Given the description of an element on the screen output the (x, y) to click on. 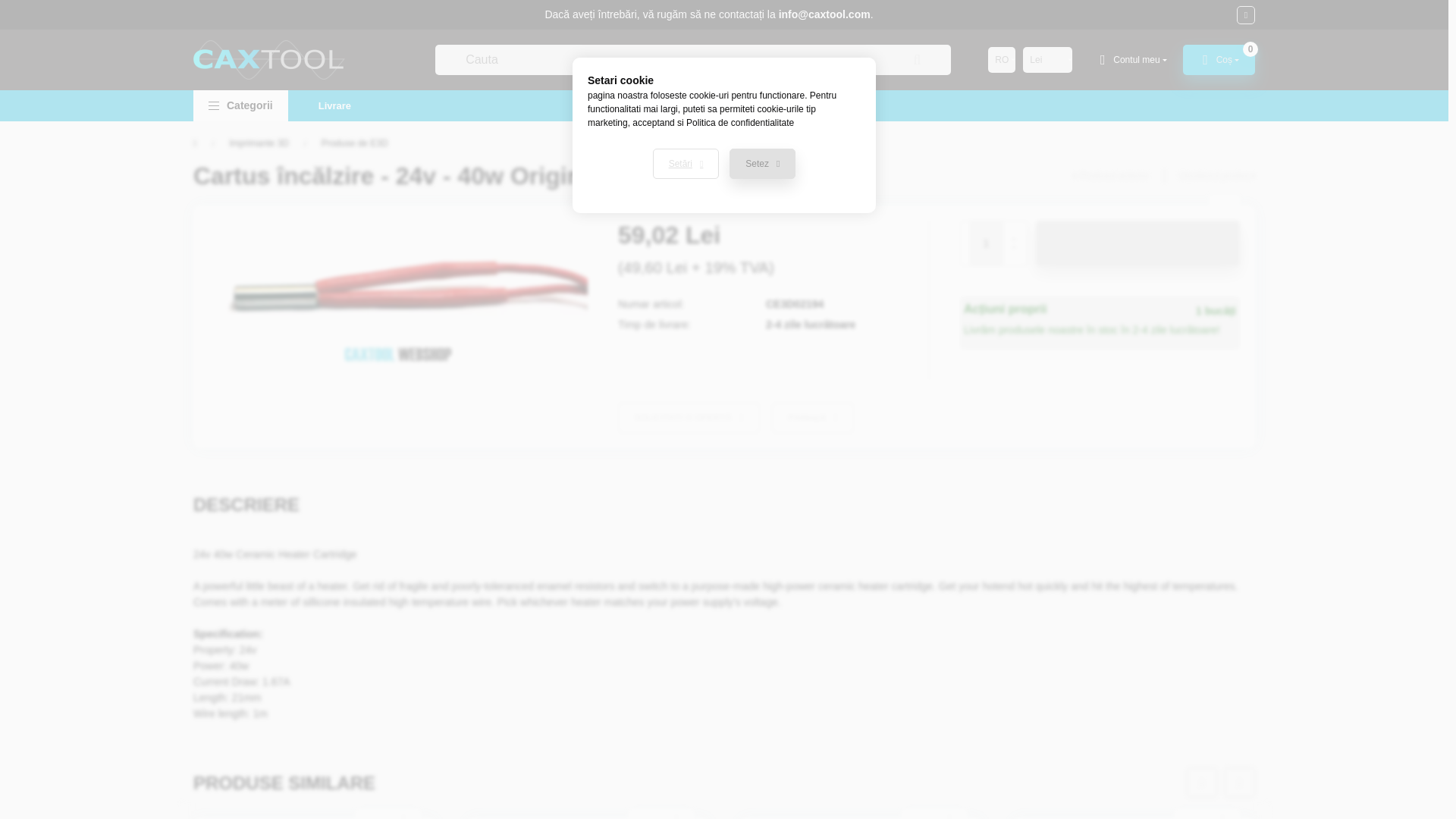
Imprimante 3D (258, 142)
Produse de E3D (354, 142)
Livrare (334, 105)
Produsul anterior (1110, 175)
Contul meu (1131, 60)
Categorii (240, 105)
Produsul anterior (1110, 175)
